Given the description of an element on the screen output the (x, y) to click on. 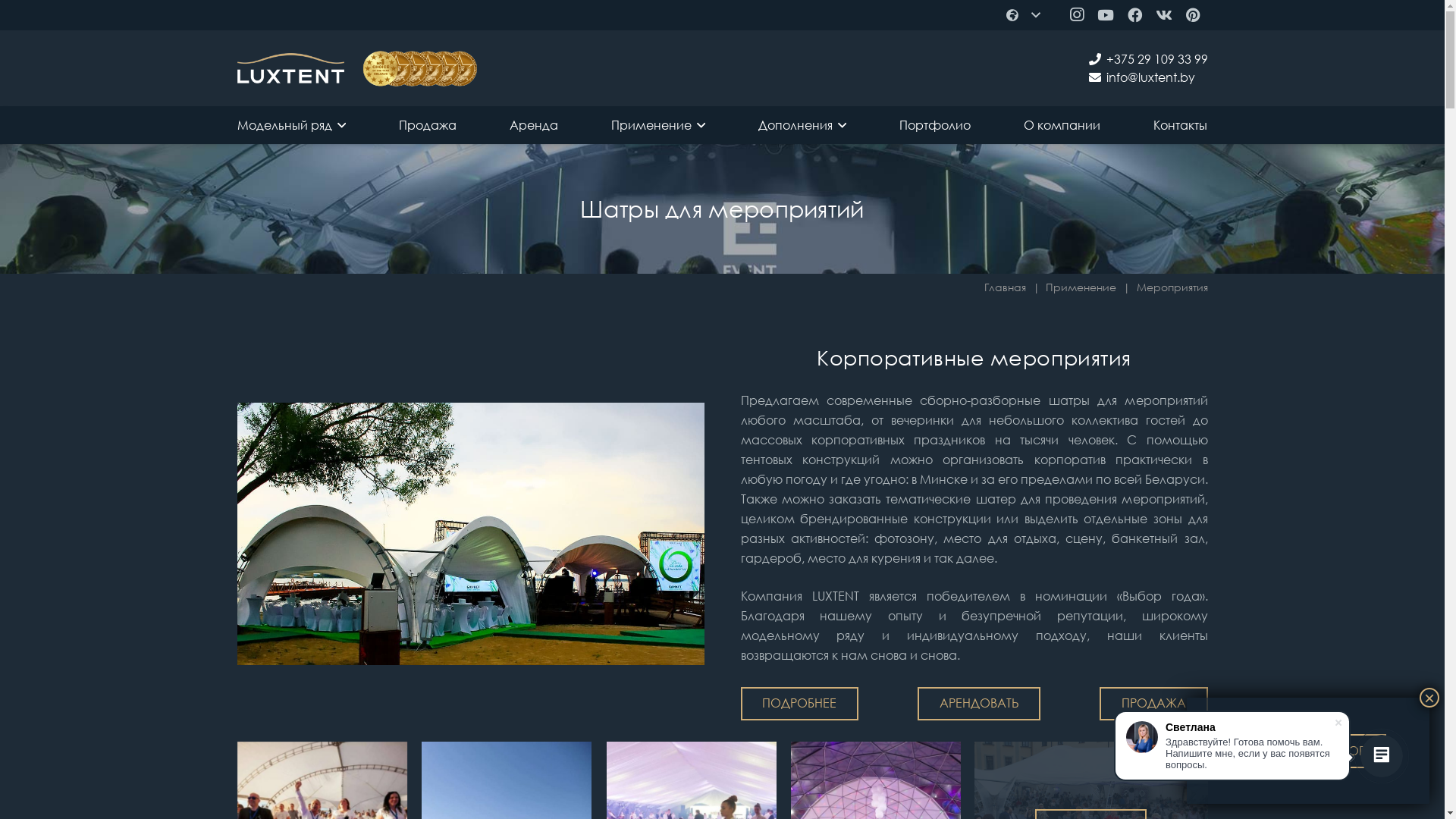
YouTube Element type: hover (1105, 14)
Vkontakte Element type: hover (1163, 14)
Pinterest Element type: hover (1192, 14)
Instagram Element type: hover (1076, 14)
info@luxtent.by Element type: text (1149, 76)
info@luxtent.by Element type: text (1141, 76)
+375 29 109 33 99 Element type: text (1156, 58)
Facebook Element type: hover (1134, 14)
+375 29 109 33 99 Element type: text (1147, 58)
